Given the description of an element on the screen output the (x, y) to click on. 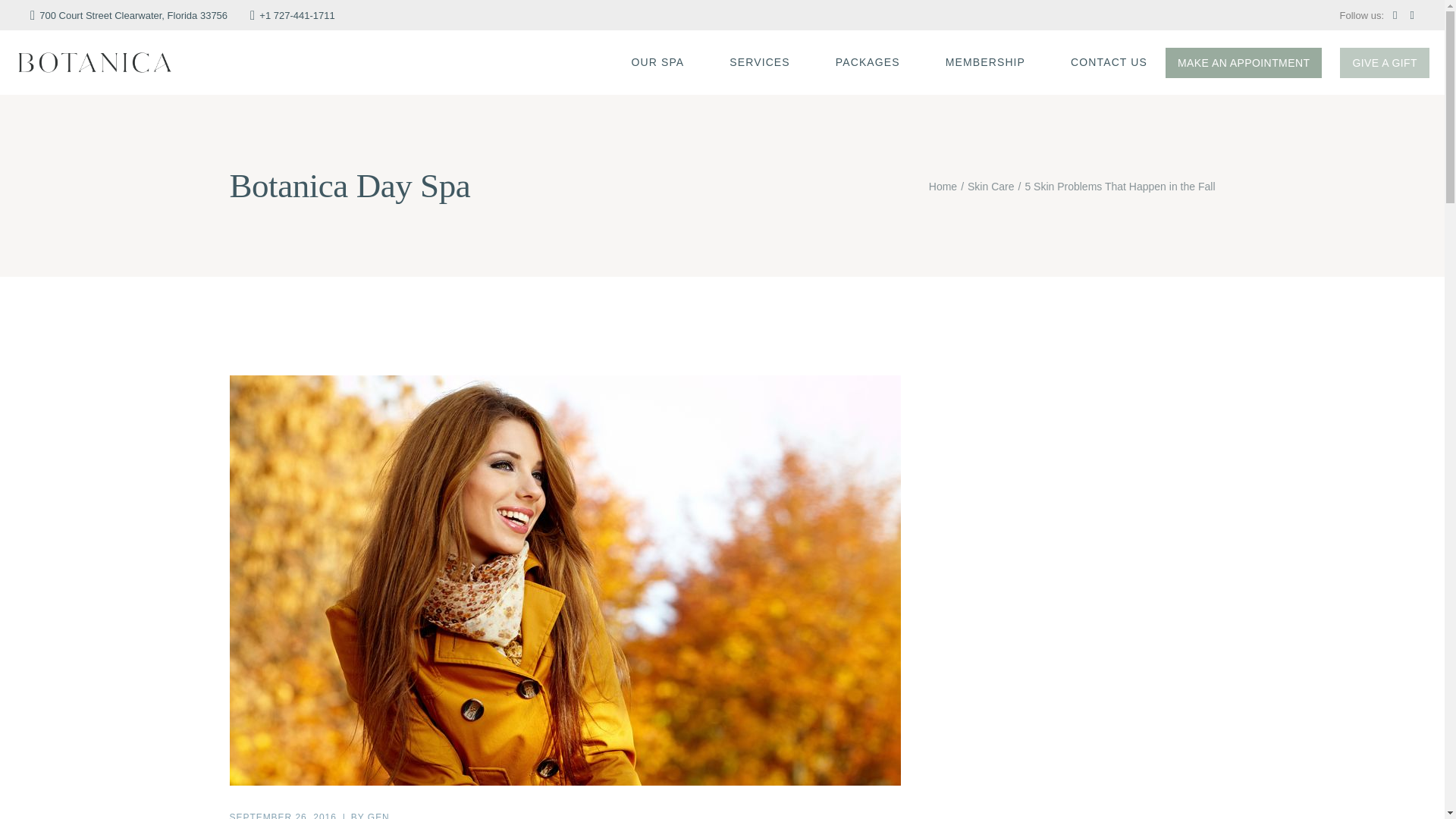
700 Court Street Clearwater, Florida 33756 (128, 15)
PACKAGES (867, 62)
MAKE AN APPOINTMENT (1244, 61)
GIVE A GIFT (1384, 61)
CONTACT US (1108, 62)
MEMBERSHIP (984, 62)
SERVICES (759, 62)
